Given the description of an element on the screen output the (x, y) to click on. 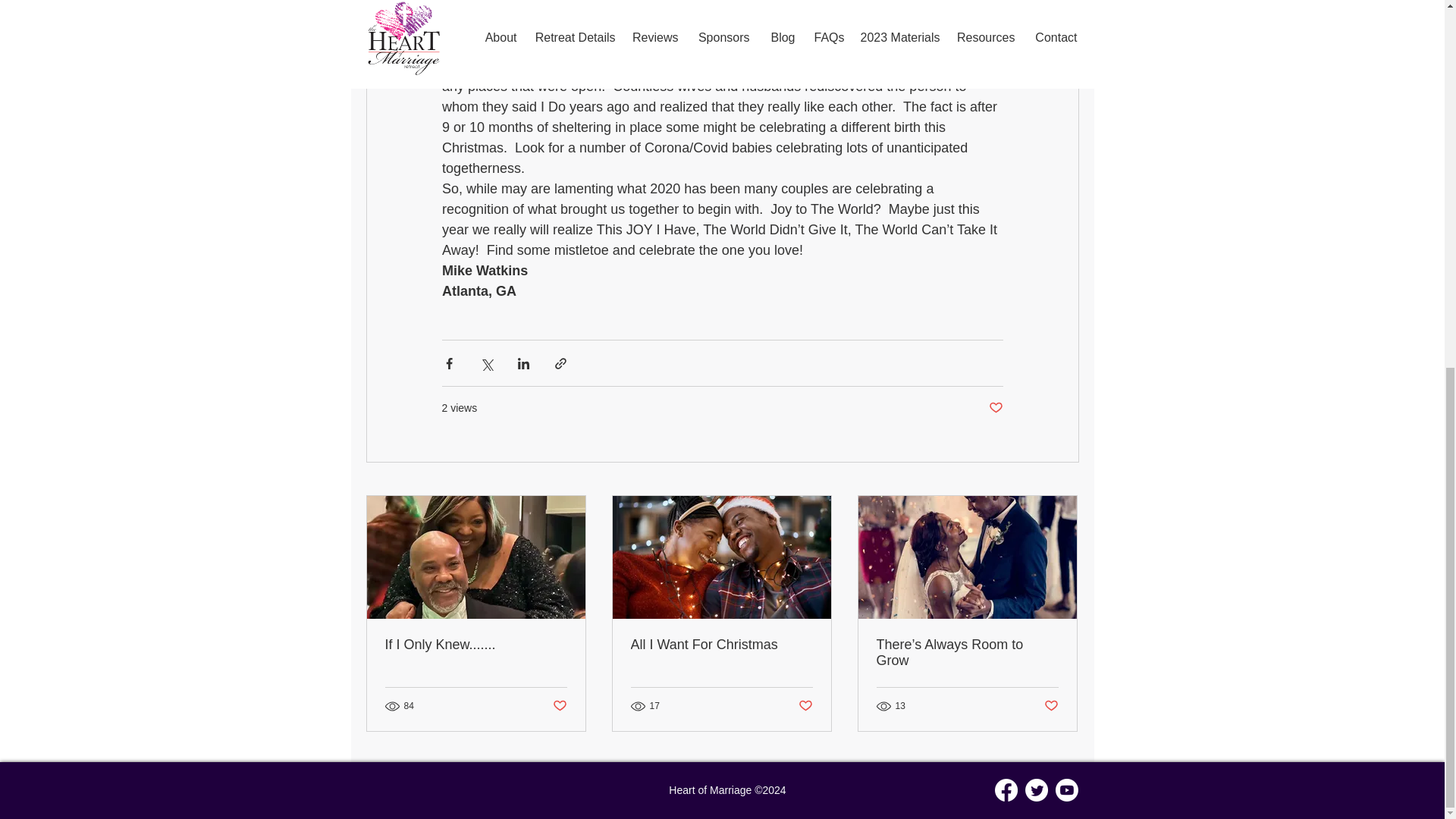
Post not marked as liked (995, 408)
If I Only Knew....... (476, 644)
Post not marked as liked (1050, 705)
All I Want For Christmas (721, 644)
Post not marked as liked (804, 705)
Post not marked as liked (558, 705)
